Given the description of an element on the screen output the (x, y) to click on. 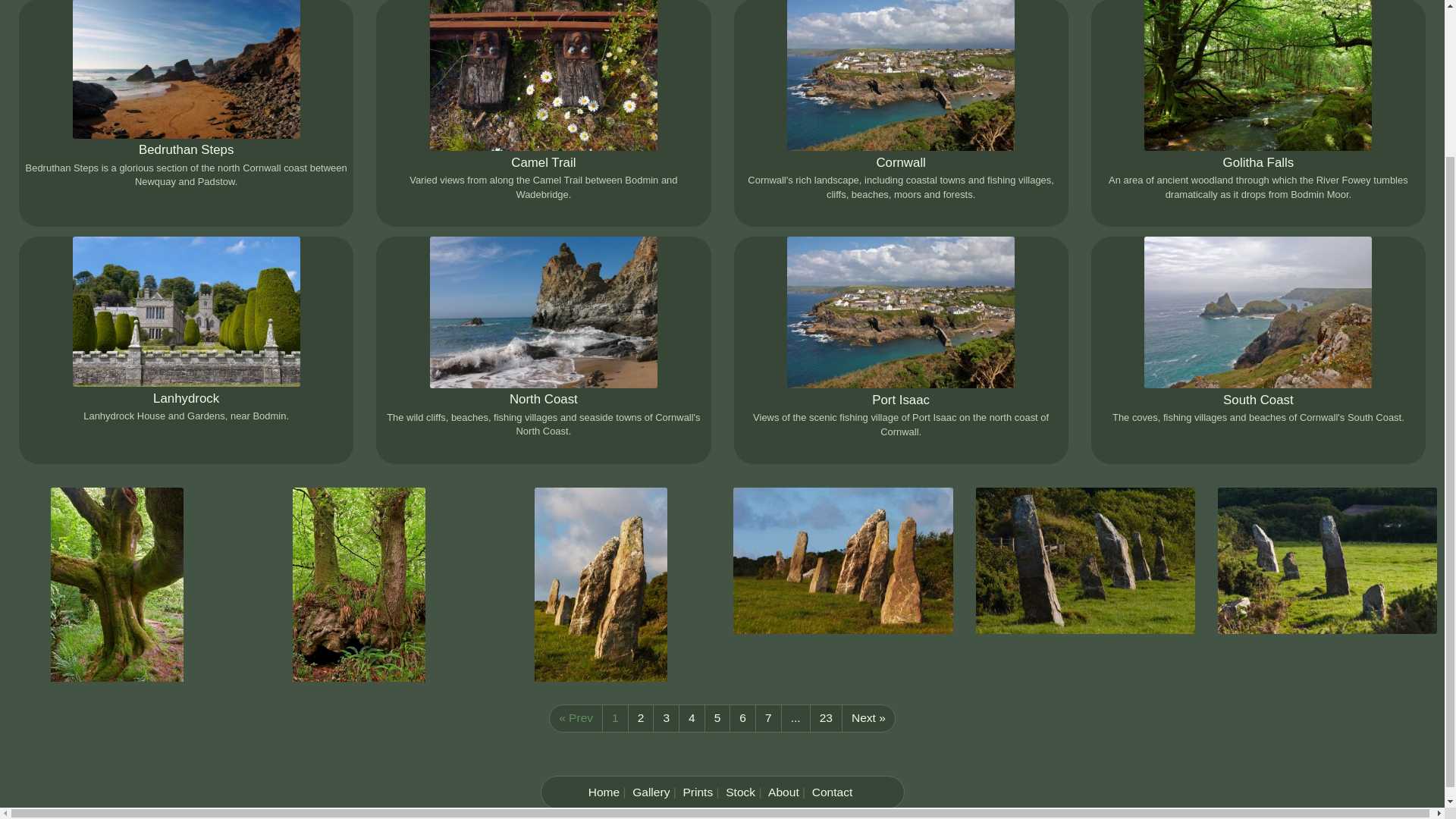
View album: Cornwall (900, 162)
Golitha Falls (1258, 162)
View album: Golitha Falls (1257, 75)
View album: Lanhydrock (185, 311)
5 (717, 718)
View album: Camel Trail (543, 162)
View album: Golitha Falls (1258, 162)
3 (665, 718)
... (795, 718)
Camel Trail (543, 162)
